Given the description of an element on the screen output the (x, y) to click on. 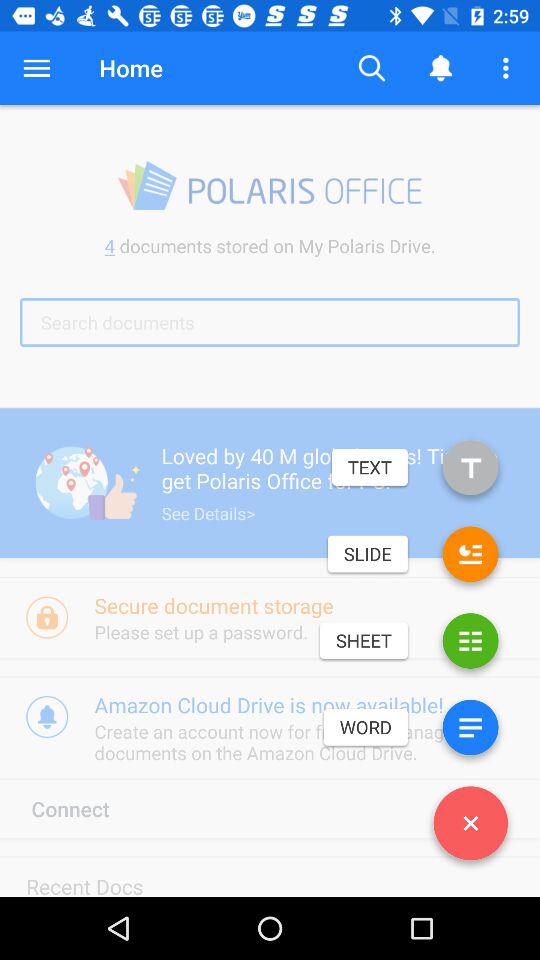
press for word (470, 731)
